Given the description of an element on the screen output the (x, y) to click on. 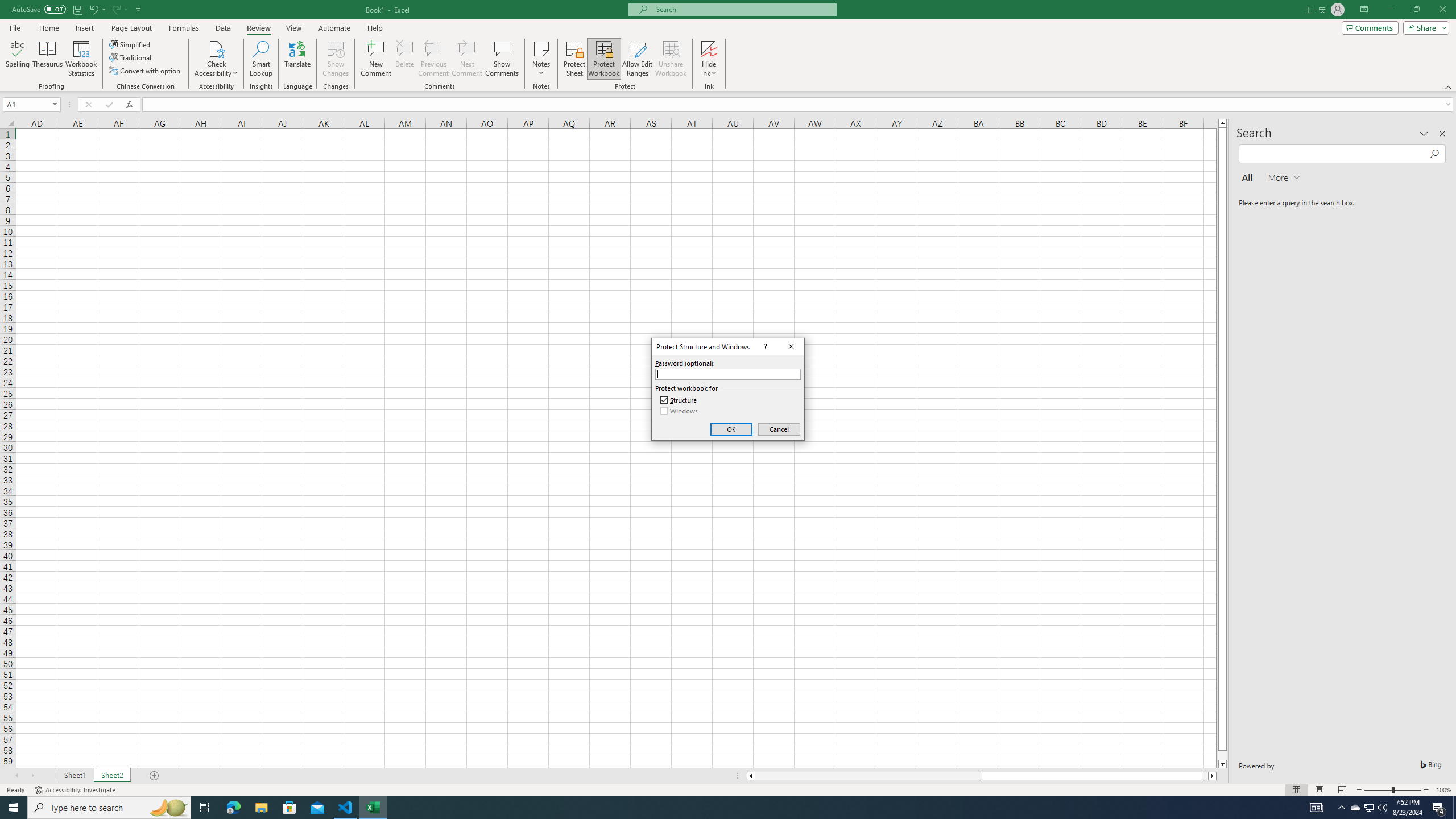
Formula Bar (799, 104)
File Explorer (261, 807)
Workbook Statistics (81, 58)
Unshare Workbook (670, 58)
Class: MsoCommandBar (728, 45)
Task View (204, 807)
Close pane (1441, 133)
Show Comments (501, 58)
Smart Lookup (260, 58)
Translate (297, 58)
